Given the description of an element on the screen output the (x, y) to click on. 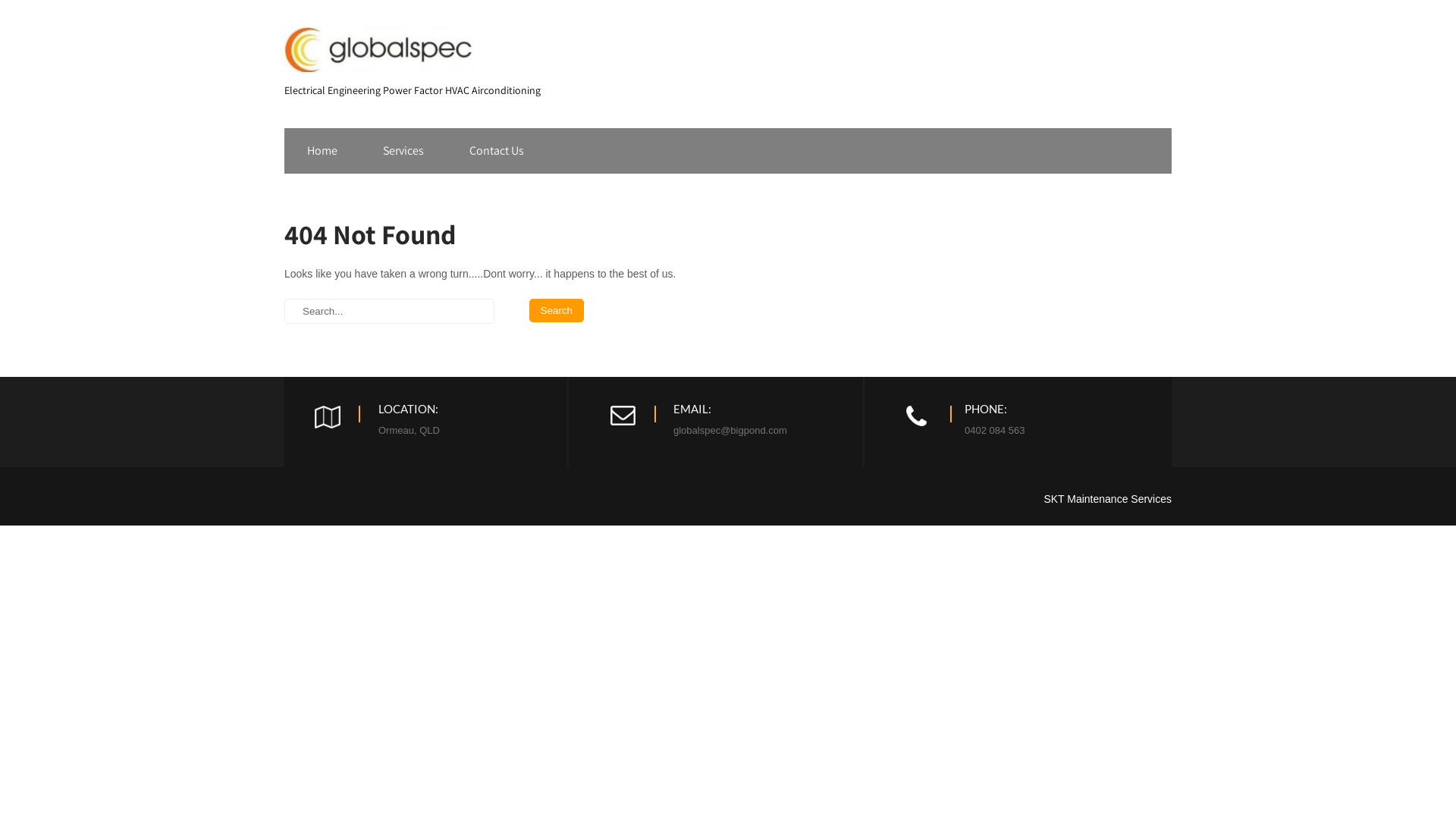
Search Element type: text (556, 310)
Electrical Engineering Power Factor HVAC Airconditioning Element type: text (412, 84)
Contact Us Element type: text (496, 150)
Home Element type: text (322, 150)
Services Element type: text (403, 150)
